Given the description of an element on the screen output the (x, y) to click on. 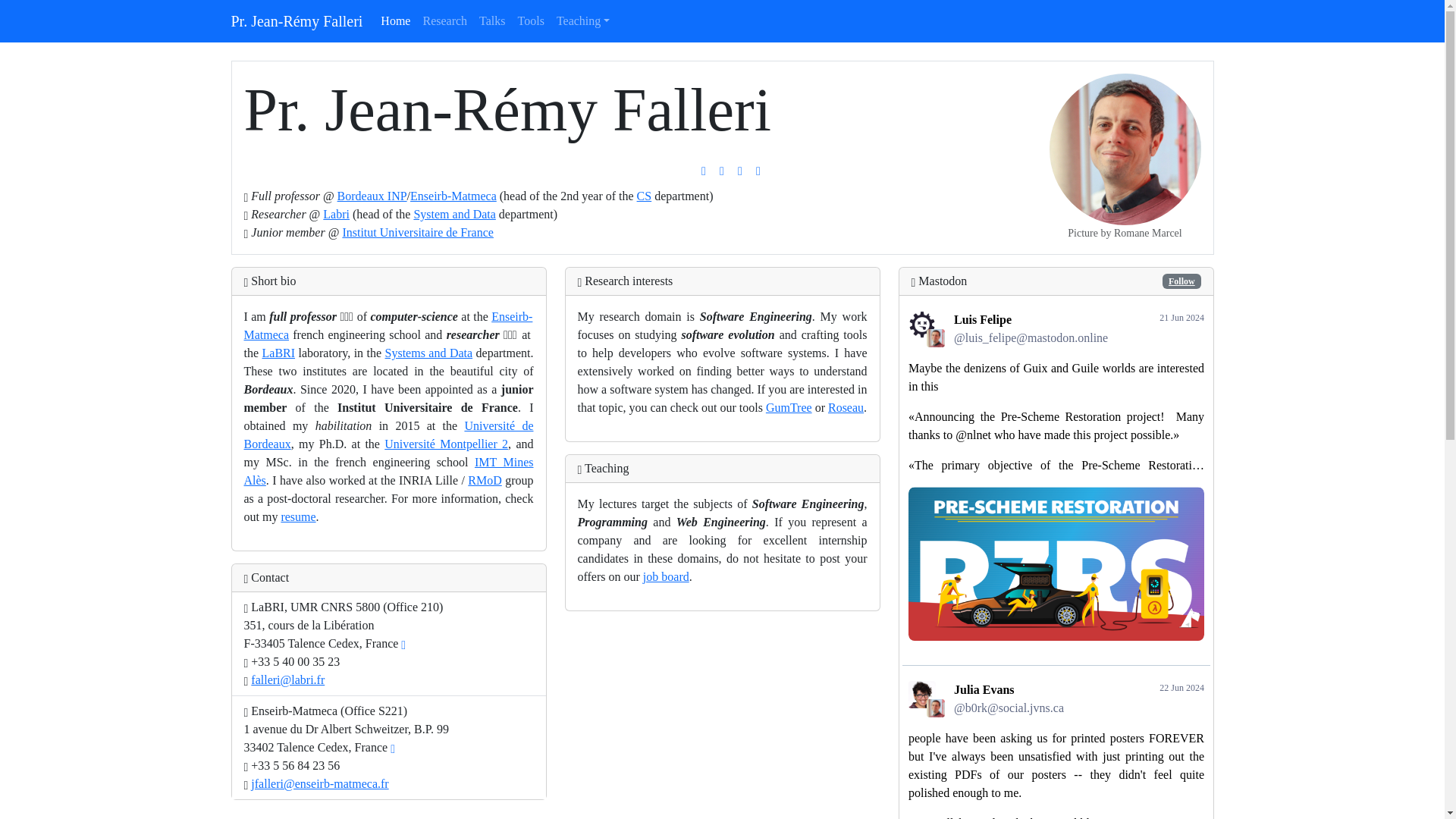
Labri (336, 214)
Home (395, 20)
System and Data (454, 214)
Tools (531, 20)
CS (644, 195)
Systems and Data (429, 352)
Follow (1180, 281)
resume (298, 516)
21 Jun 2024 (1181, 317)
LaBRI (278, 352)
Talks (492, 20)
Roseau (845, 407)
Bordeaux INP (372, 195)
Enseirb-Matmeca (388, 325)
GumTree (788, 407)
